Given the description of an element on the screen output the (x, y) to click on. 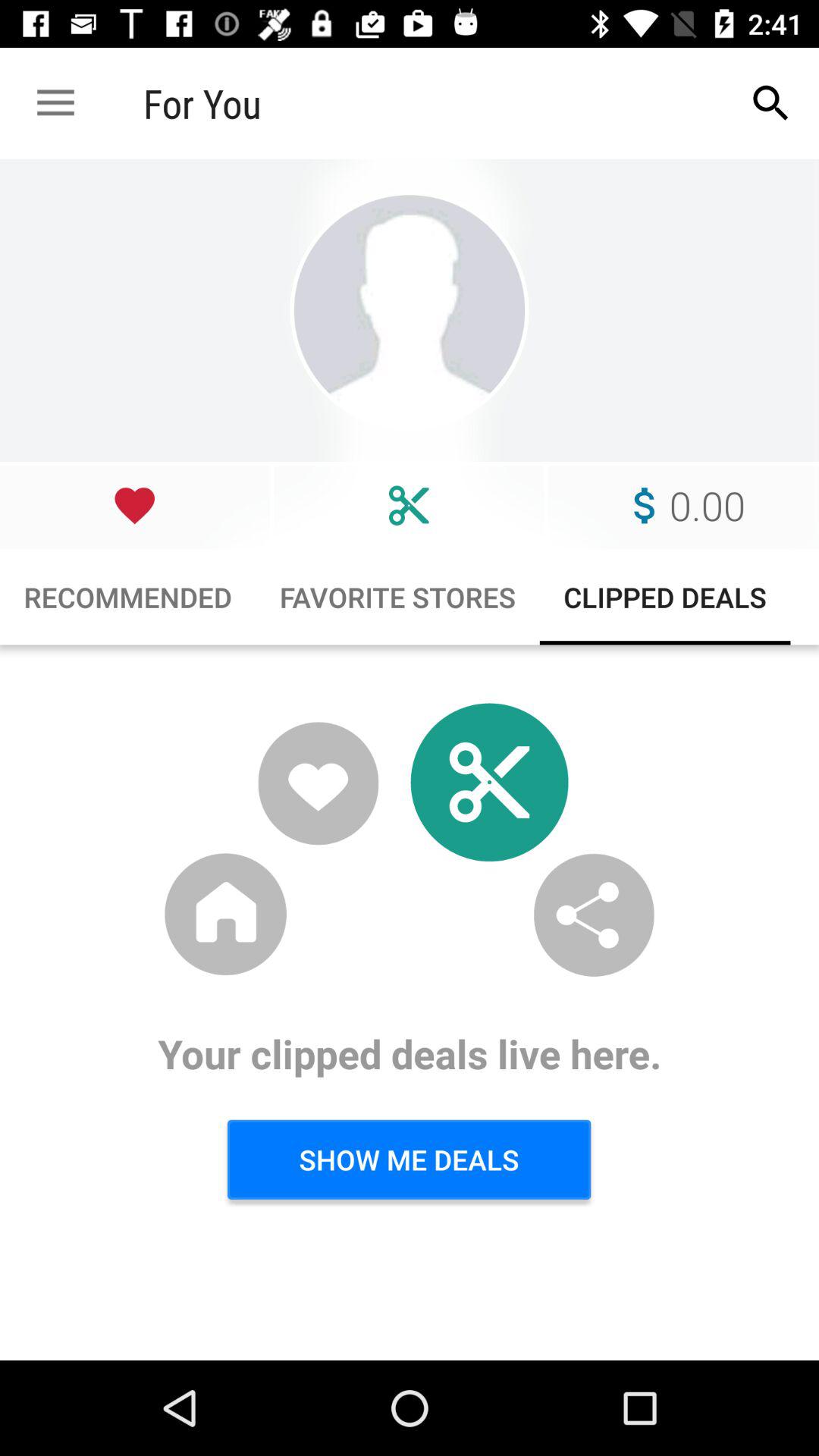
press app to the right of for you app (771, 103)
